Given the description of an element on the screen output the (x, y) to click on. 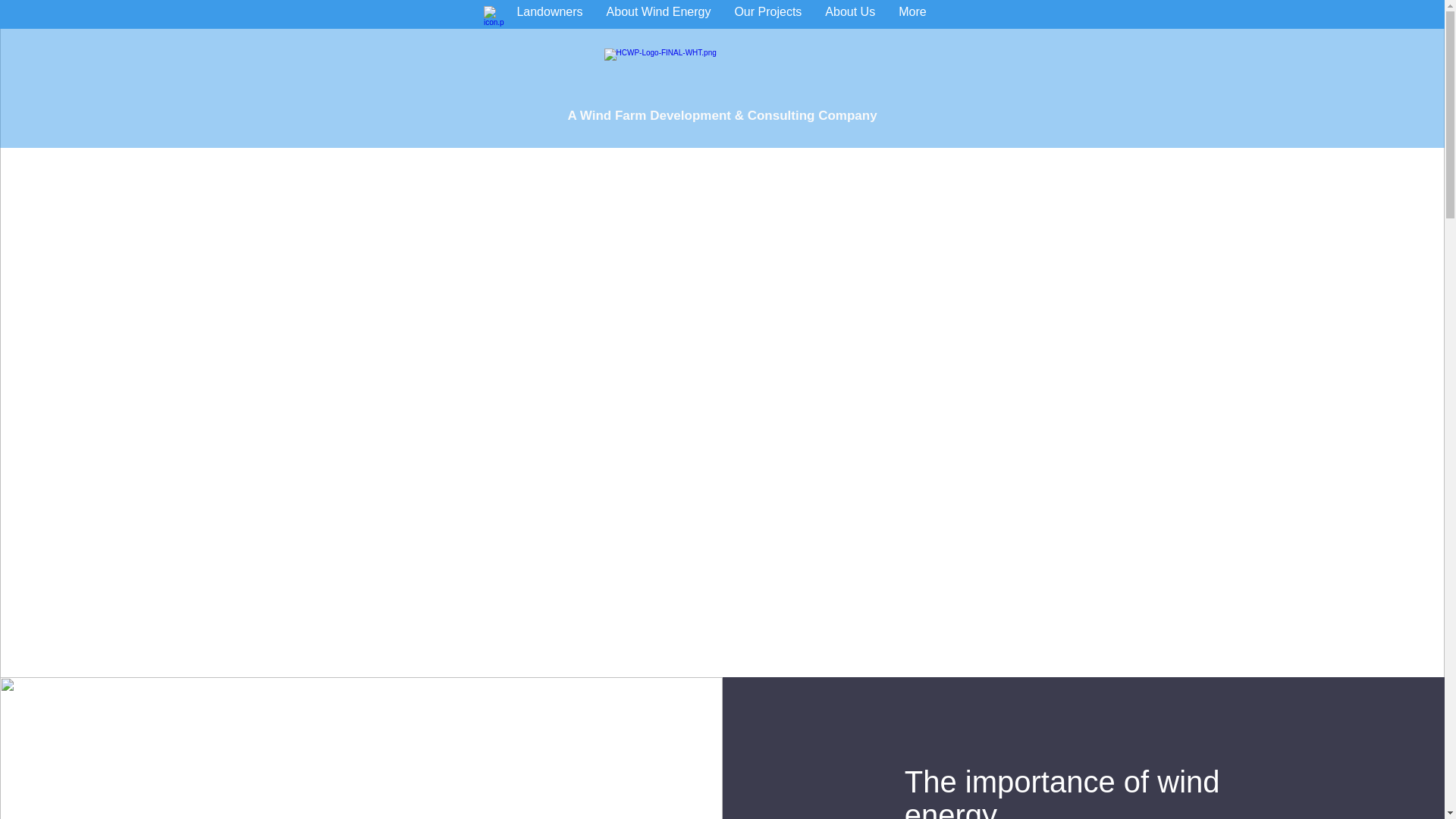
Our Projects (767, 14)
About Us (849, 14)
Landowners (549, 14)
About Wind Energy (658, 14)
